Given the description of an element on the screen output the (x, y) to click on. 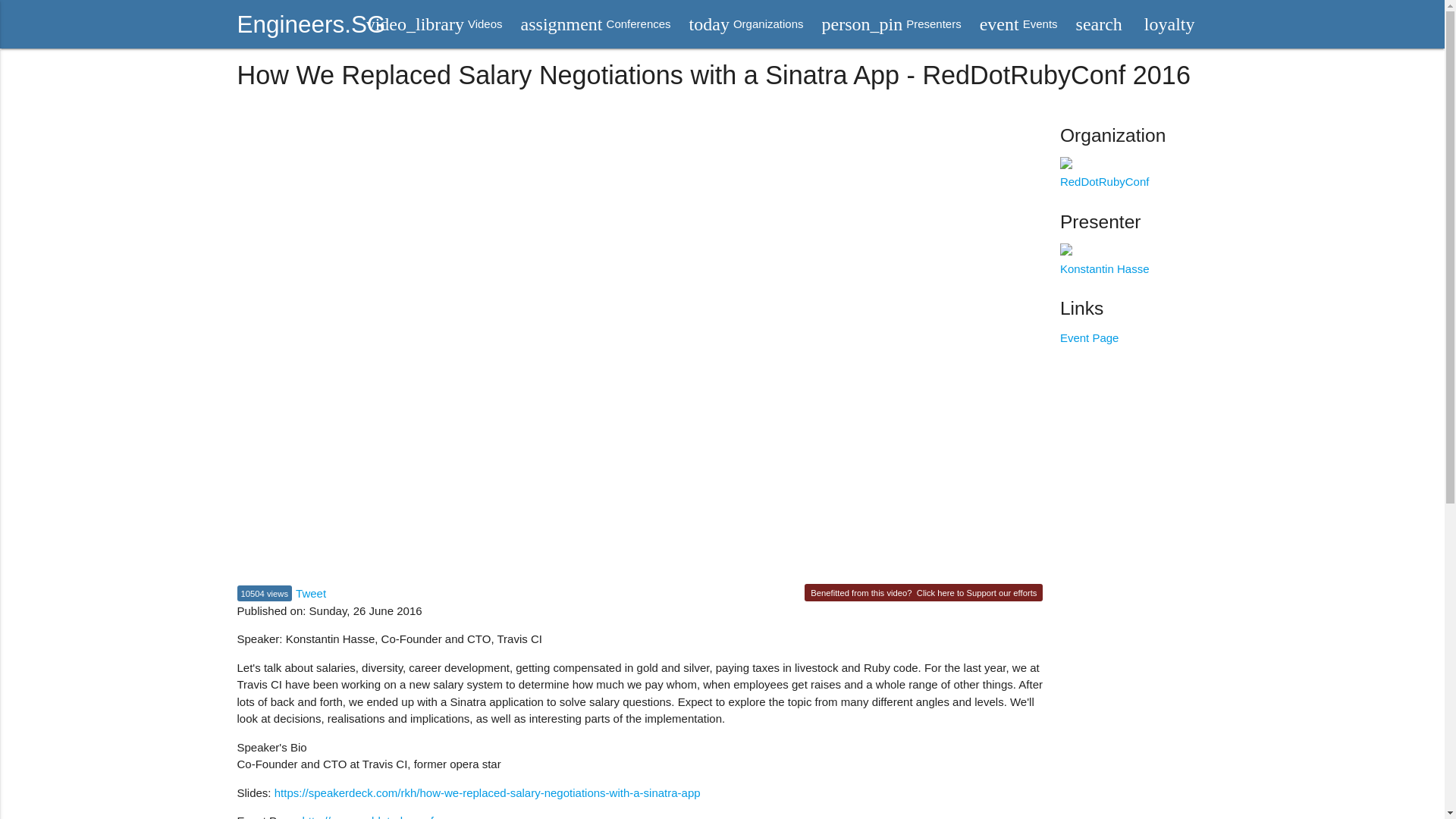
Engineers.SG (745, 24)
Tweet (310, 24)
Konstantin Hasse (310, 593)
Organizations (1104, 259)
Conferences (745, 24)
Presenters (1019, 24)
Events (595, 24)
Click here to Support our efforts (595, 24)
Videos (891, 24)
RedDotRubyConf (1019, 24)
Event Page (976, 592)
